Given the description of an element on the screen output the (x, y) to click on. 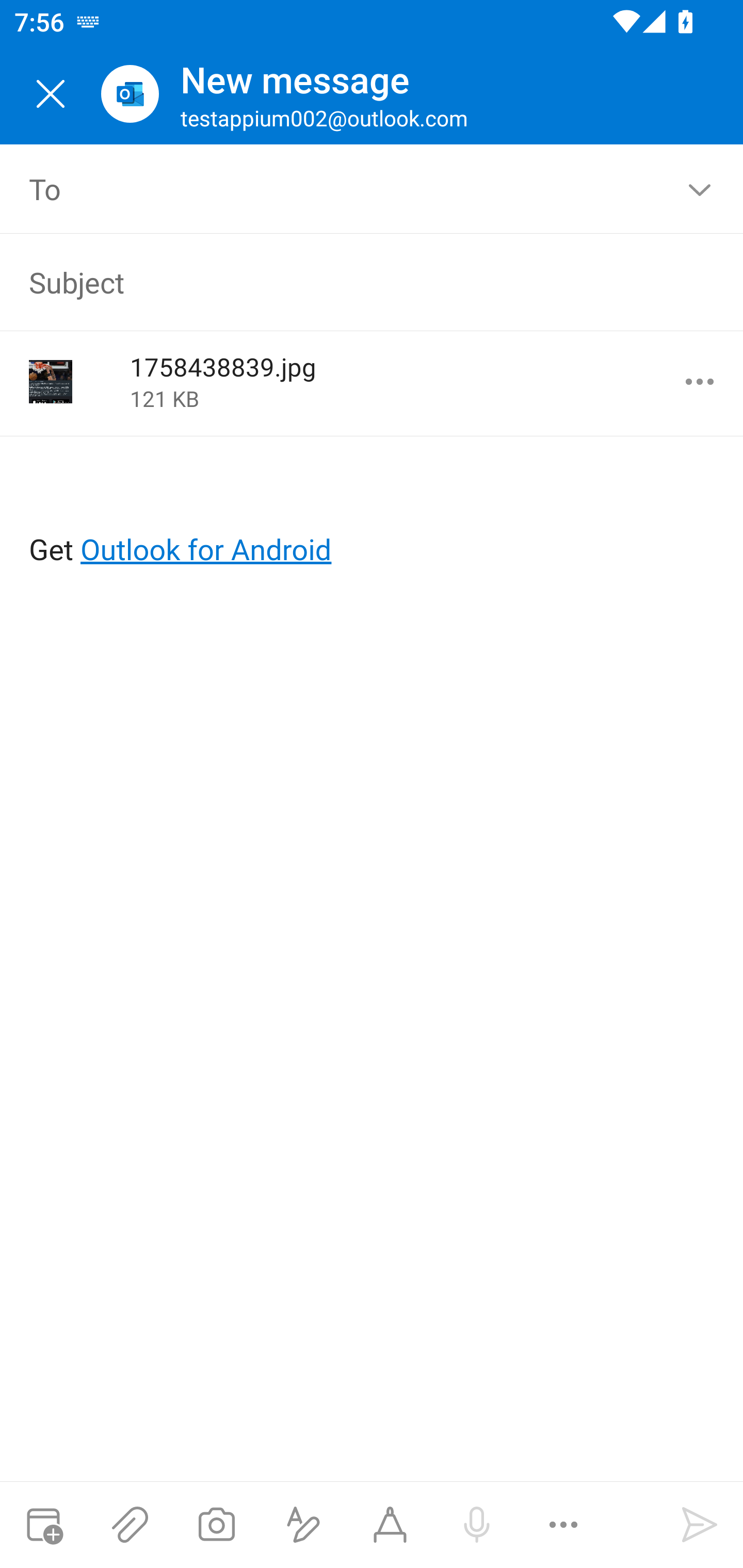
Close (50, 93)
Subject (342, 281)
1758438839.jpg 121 KB More options (371, 382)
More options (699, 381)


Get Outlook for Android (372, 515)
Attach meeting (43, 1524)
Attach files (129, 1524)
Take a photo (216, 1524)
Show formatting options (303, 1524)
Start Ink compose (389, 1524)
More options (563, 1524)
Send (699, 1524)
